Given the description of an element on the screen output the (x, y) to click on. 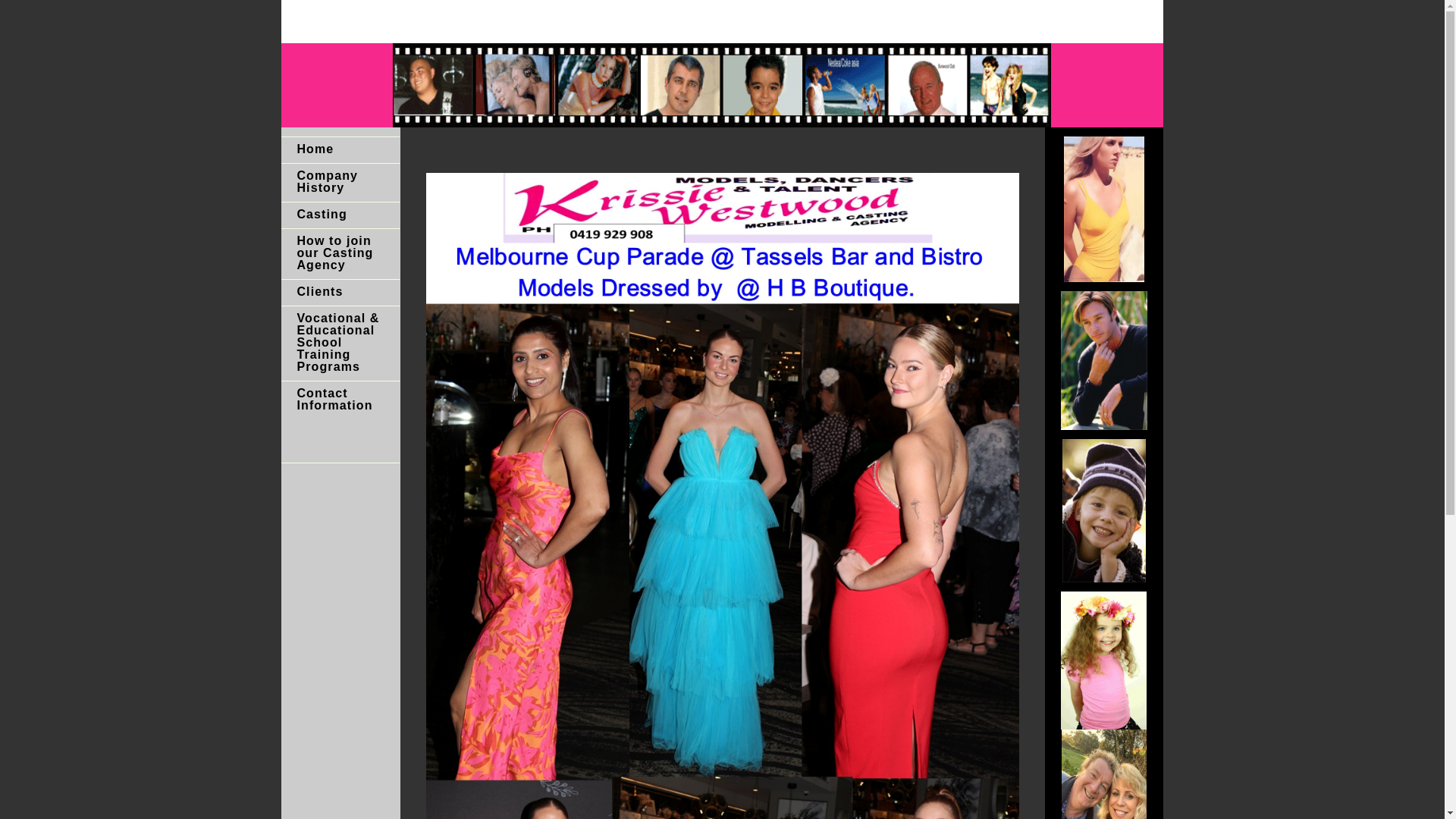
Contact Information Element type: text (340, 400)
Home Element type: text (340, 150)
Company History Element type: text (340, 182)
How to join our Casting Agency Element type: text (340, 254)
Clients Element type: text (340, 292)
Casting Element type: text (340, 215)
Vocational & Educational School Training Programs Element type: text (340, 343)
